Given the description of an element on the screen output the (x, y) to click on. 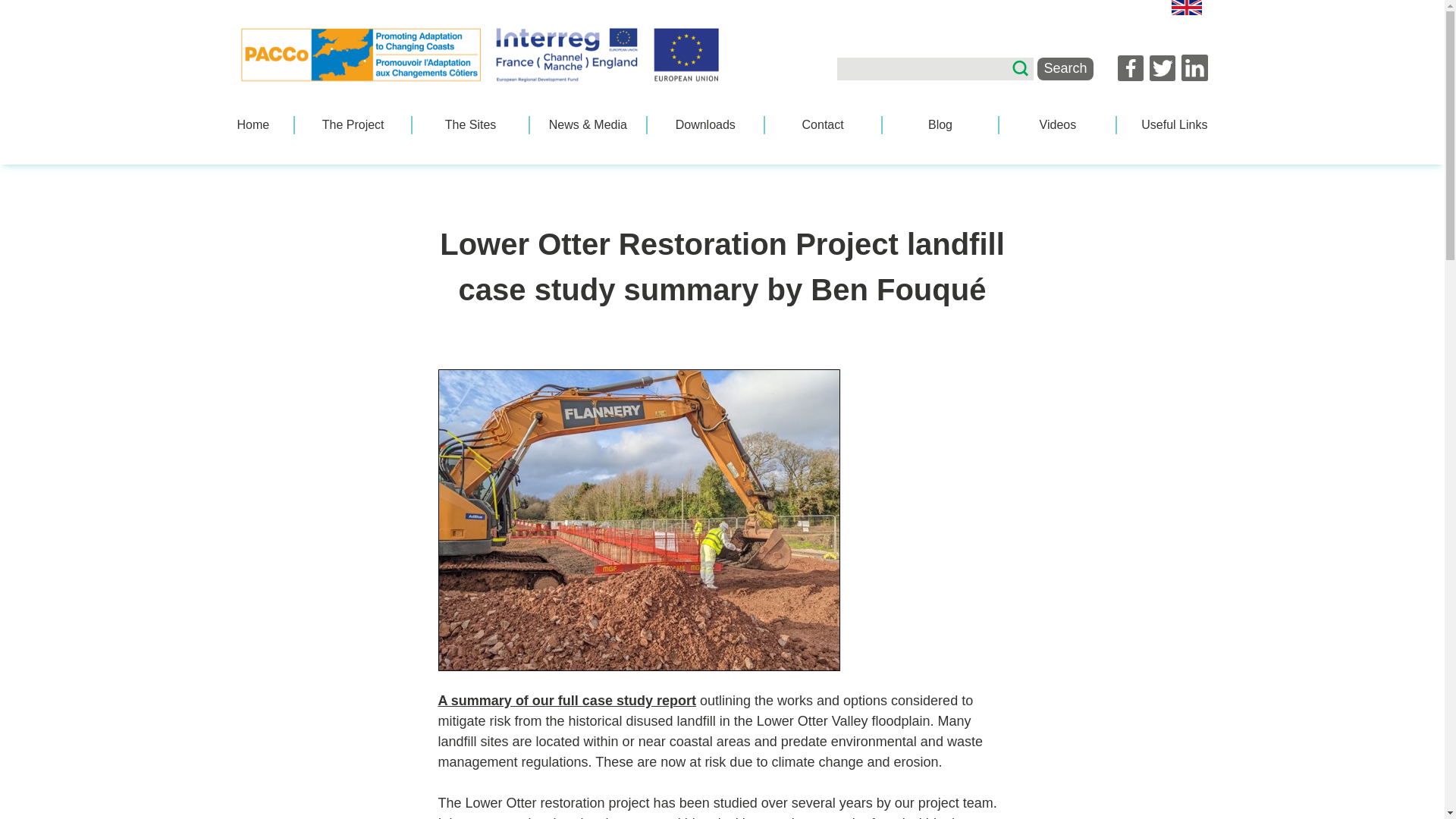
Downloads (705, 125)
English (1185, 7)
Search (1064, 68)
Search (1064, 68)
Contact (822, 125)
Blog (940, 125)
A summary of our full case study report (566, 700)
Useful Links (1174, 125)
Videos (1057, 125)
The Sites (469, 125)
